Given the description of an element on the screen output the (x, y) to click on. 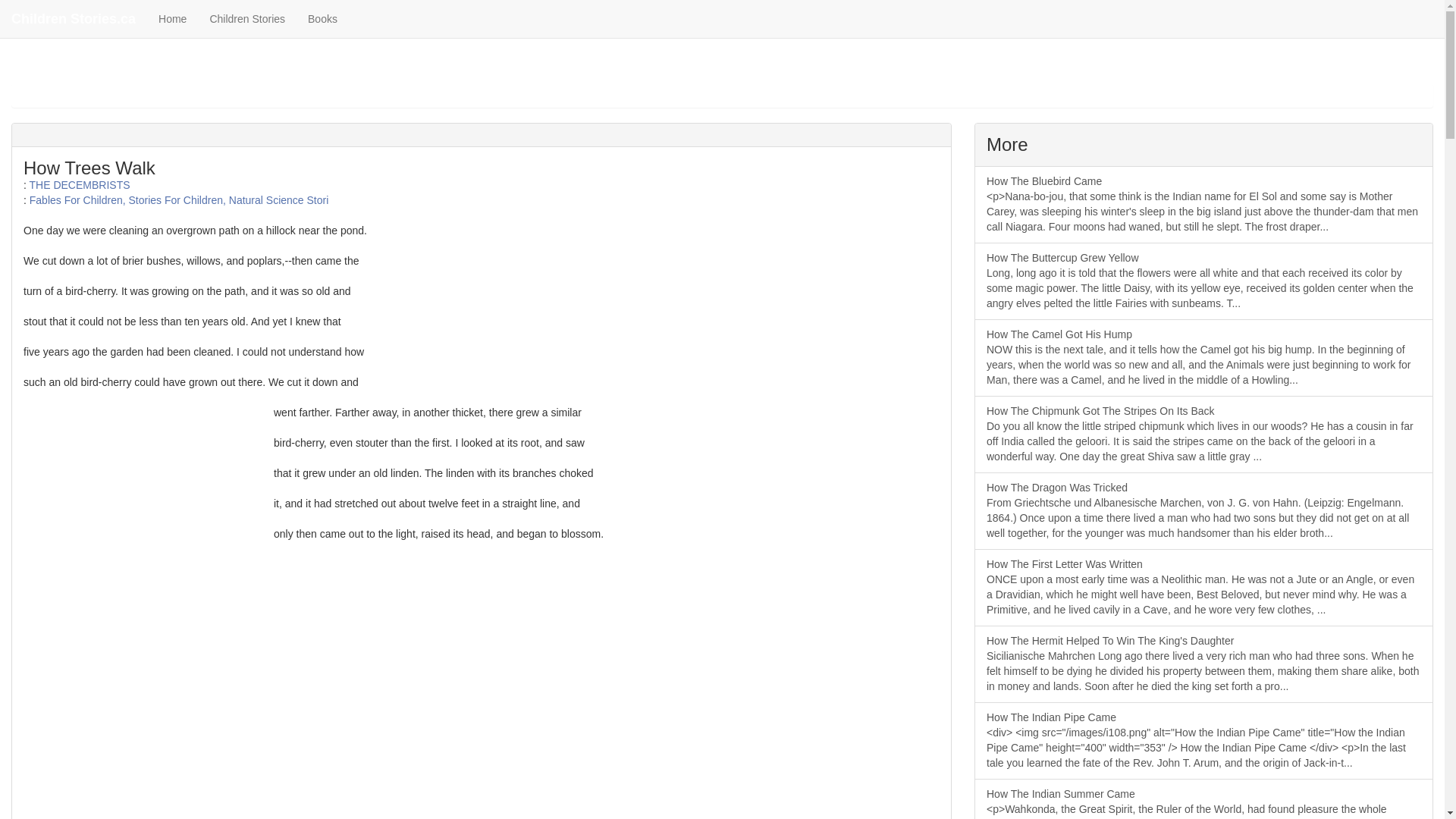
Books (323, 18)
Children Stories (247, 18)
Home (172, 18)
Children Stories.ca (73, 18)
THE DECEMBRISTS (80, 184)
